Given the description of an element on the screen output the (x, y) to click on. 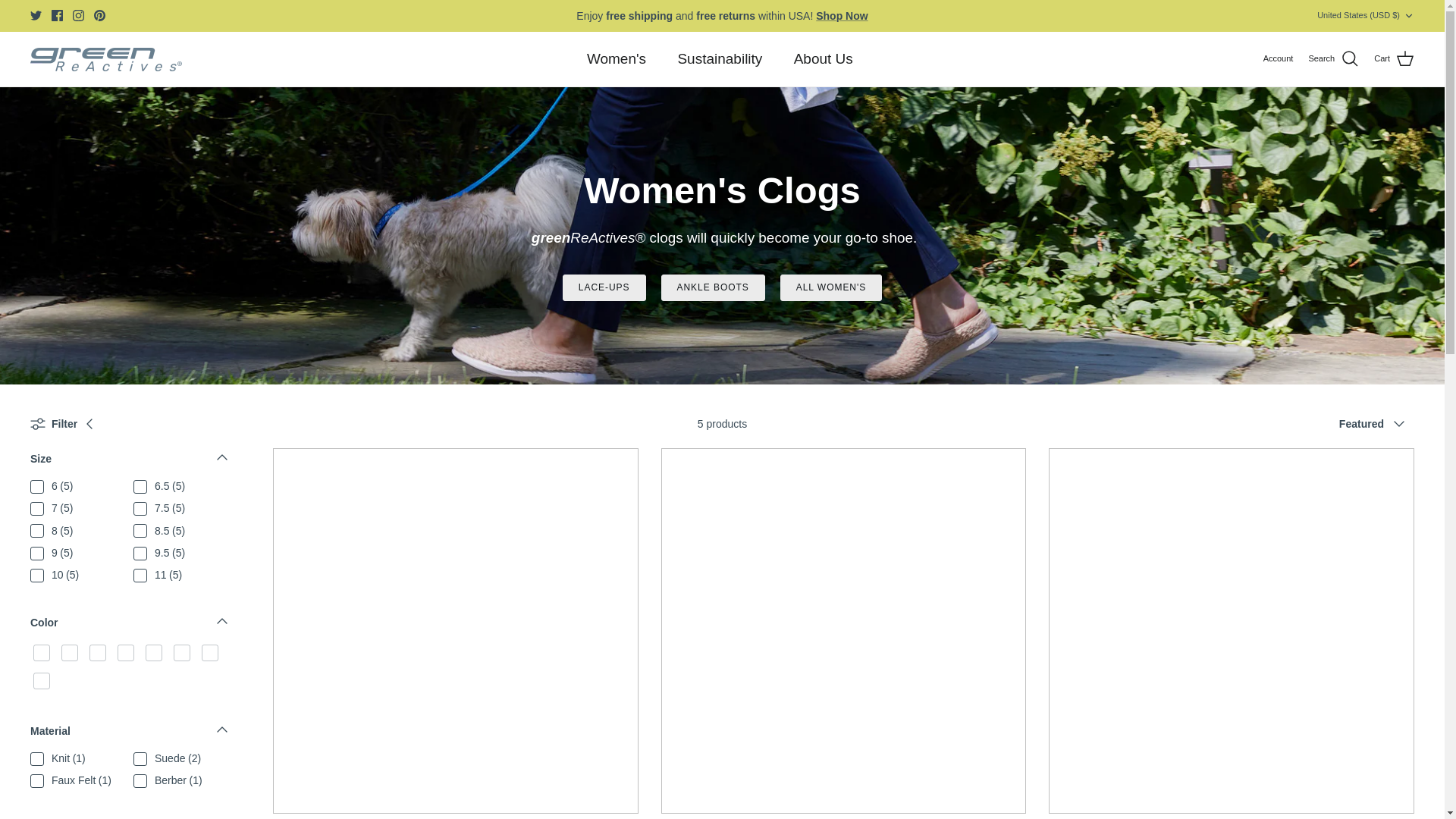
Down (1408, 15)
Facebook (56, 15)
Cart (1393, 58)
greenReActives (106, 59)
Down (221, 620)
Facebook (56, 15)
